Given the description of an element on the screen output the (x, y) to click on. 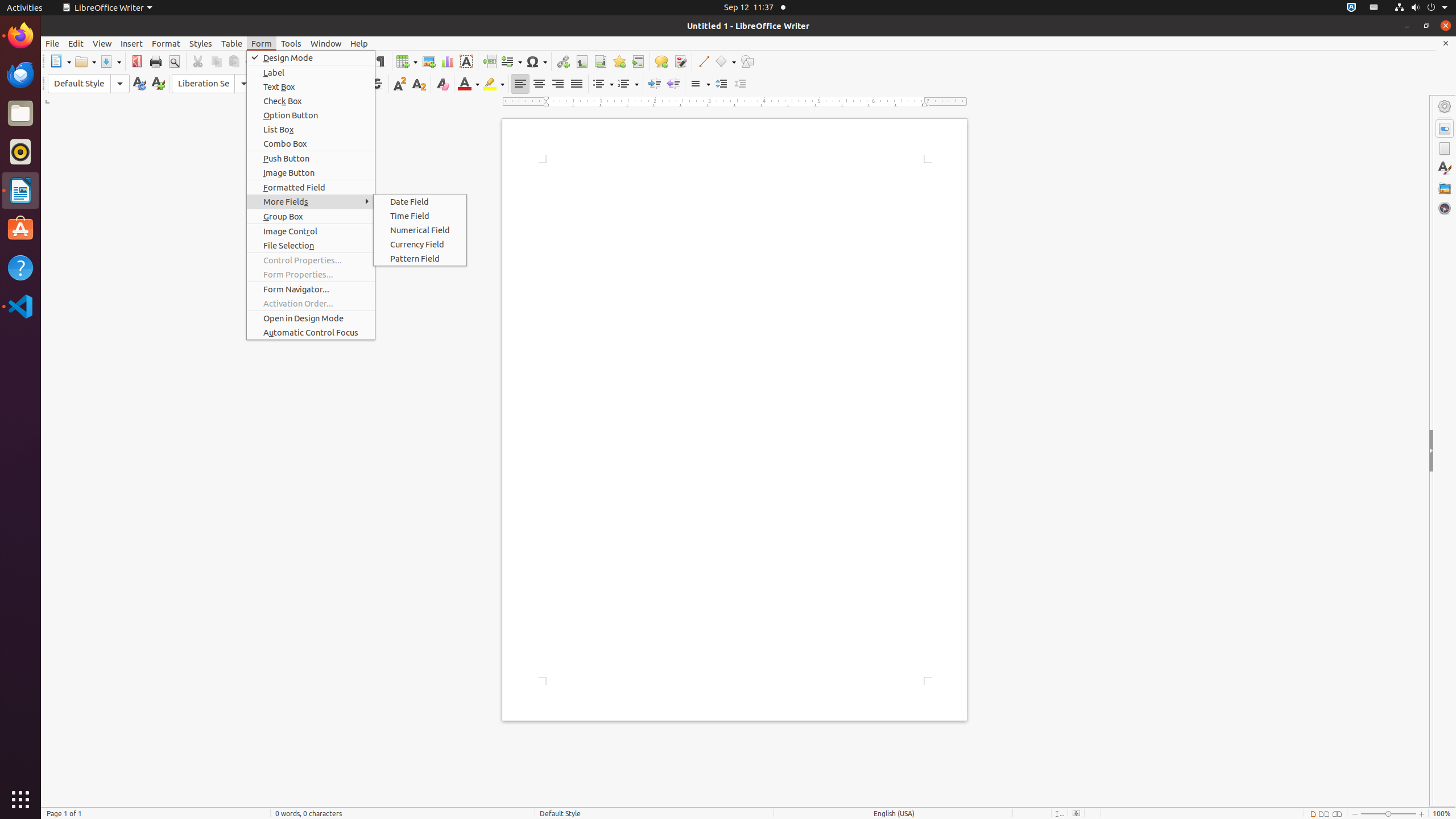
Italic Element type: toggle-button (338, 83)
Insert Element type: menu (131, 43)
Justified Element type: toggle-button (576, 83)
org.kde.StatusNotifierItem-14077-1 Element type: menu (1373, 7)
Thunderbird Mail Element type: push-button (20, 74)
